Given the description of an element on the screen output the (x, y) to click on. 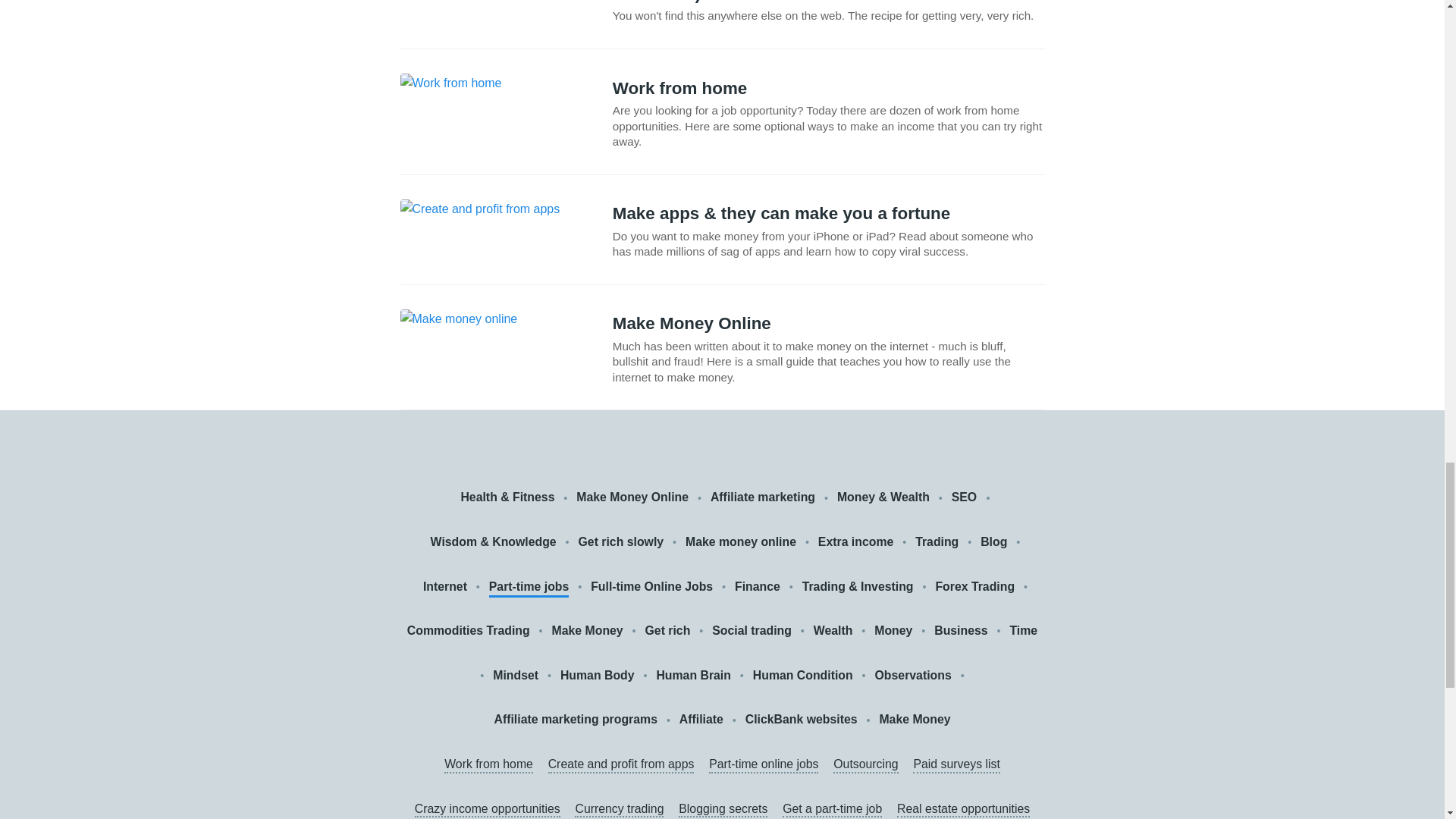
Make Money (587, 630)
Internet (445, 587)
Full-time Online Jobs (652, 587)
Human Body (597, 675)
SEO (965, 497)
Forex Trading (974, 587)
Make Money Online (632, 497)
Time (1022, 630)
Make money online (740, 542)
Business (960, 630)
Extra income (855, 542)
Mindset (515, 675)
Money (893, 630)
Get rich slowly (620, 542)
Trading (936, 542)
